Given the description of an element on the screen output the (x, y) to click on. 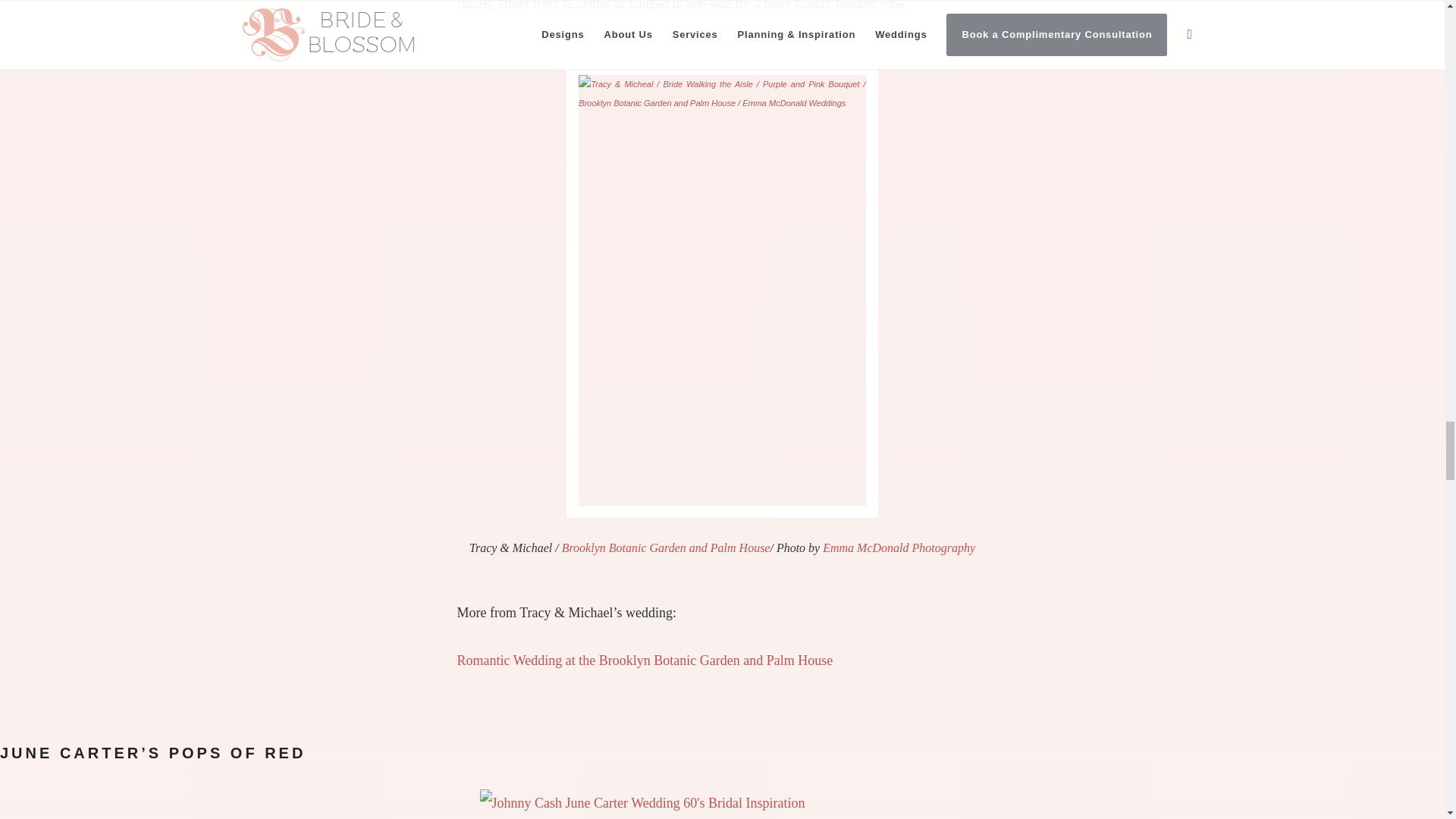
Emma McDonald Photography (898, 547)
Brooklyn Botanic Garden and Palm House (666, 547)
